Given the description of an element on the screen output the (x, y) to click on. 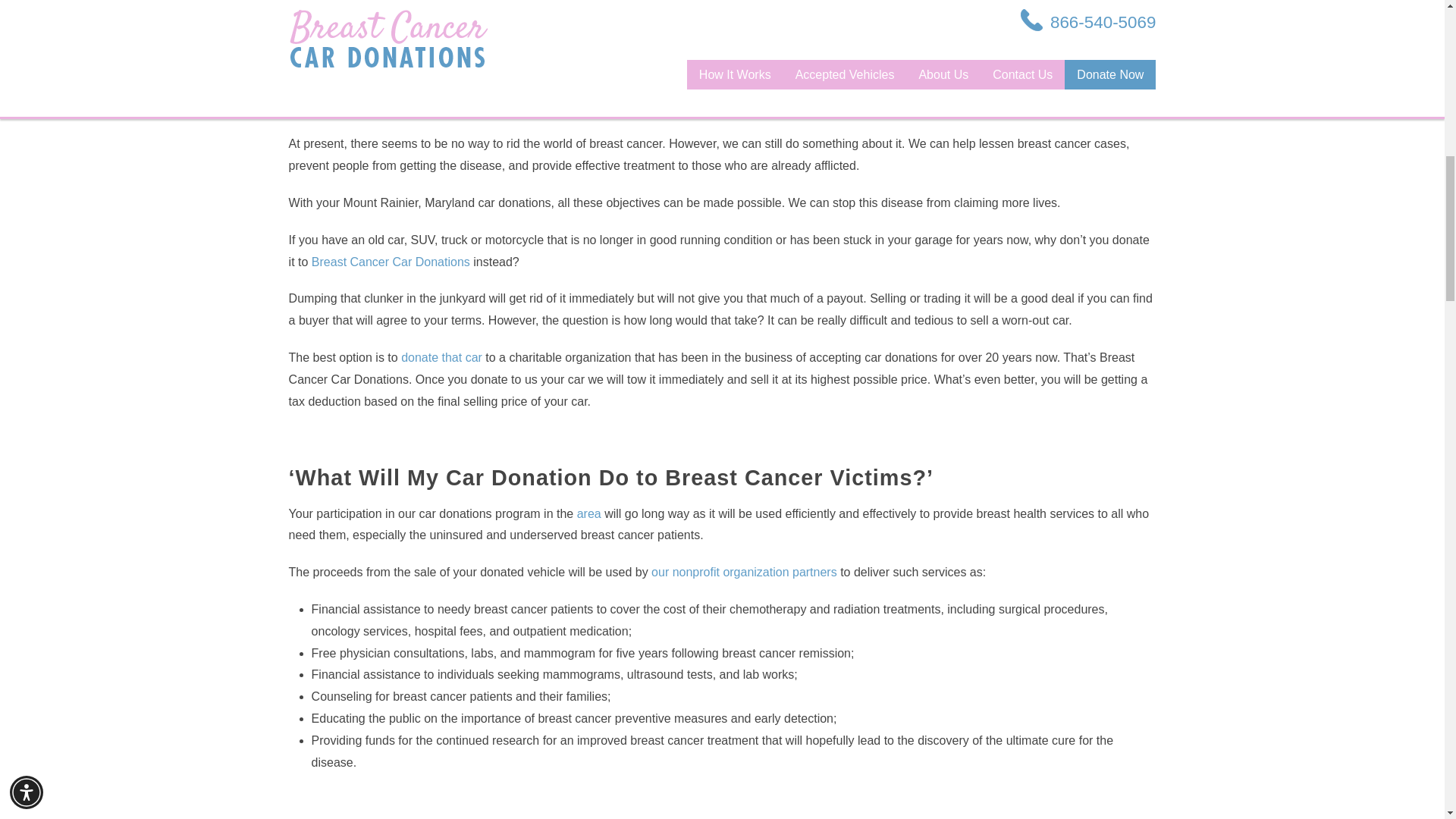
Photo (304, 47)
